Given the description of an element on the screen output the (x, y) to click on. 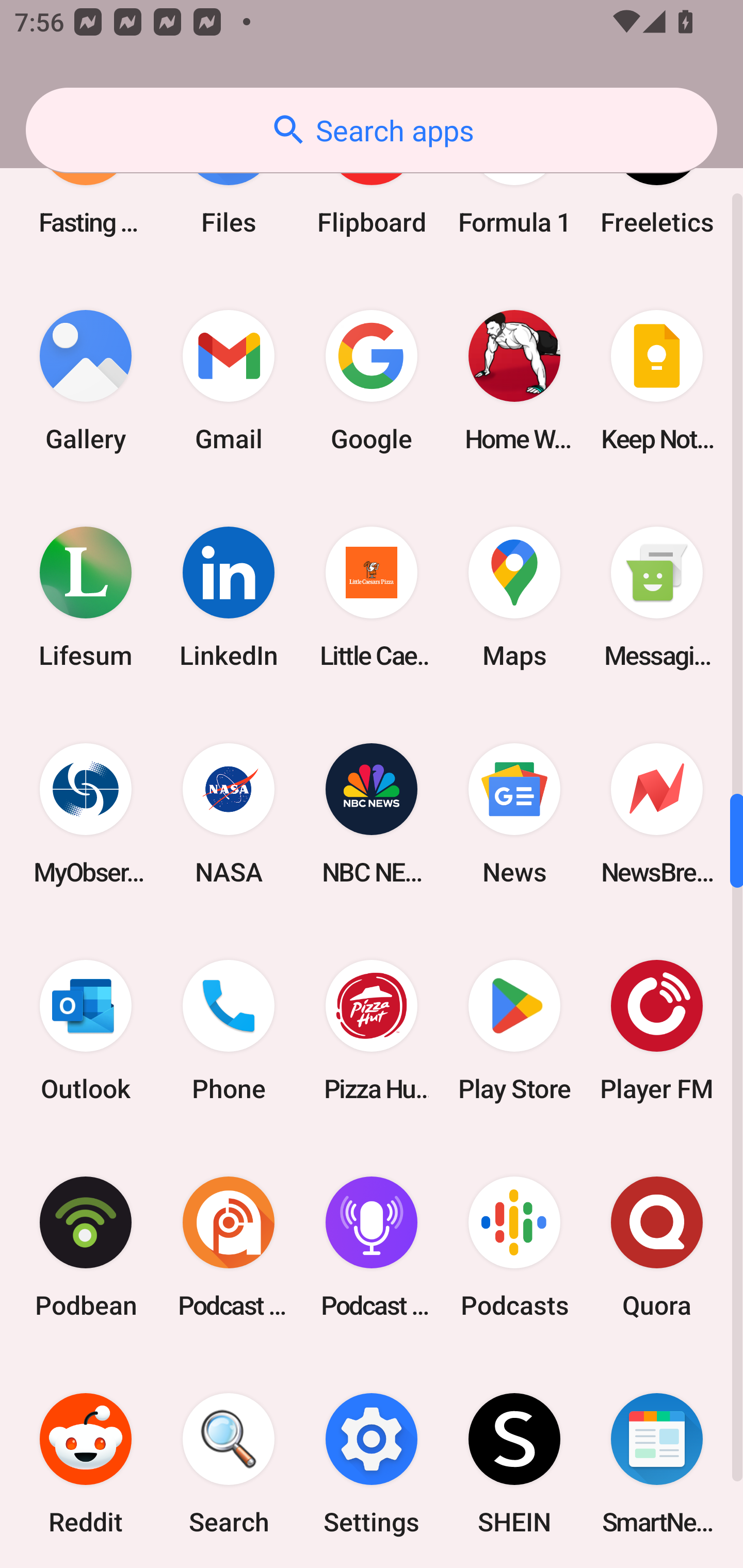
  Search apps (371, 130)
Gallery (85, 380)
Gmail (228, 380)
Google (371, 380)
Home Workout (514, 380)
Keep Notes (656, 380)
Lifesum (85, 597)
LinkedIn (228, 597)
Little Caesars Pizza (371, 597)
Maps (514, 597)
Messaging (656, 597)
MyObservatory (85, 813)
NASA (228, 813)
NBC NEWS (371, 813)
News (514, 813)
NewsBreak (656, 813)
Outlook (85, 1029)
Phone (228, 1029)
Pizza Hut HK & Macau (371, 1029)
Play Store (514, 1029)
Player FM (656, 1029)
Podbean (85, 1246)
Podcast Addict (228, 1246)
Podcast Player (371, 1246)
Podcasts (514, 1246)
Quora (656, 1246)
Reddit (85, 1461)
Search (228, 1461)
Settings (371, 1461)
SHEIN (514, 1461)
SmartNews (656, 1461)
